Given the description of an element on the screen output the (x, y) to click on. 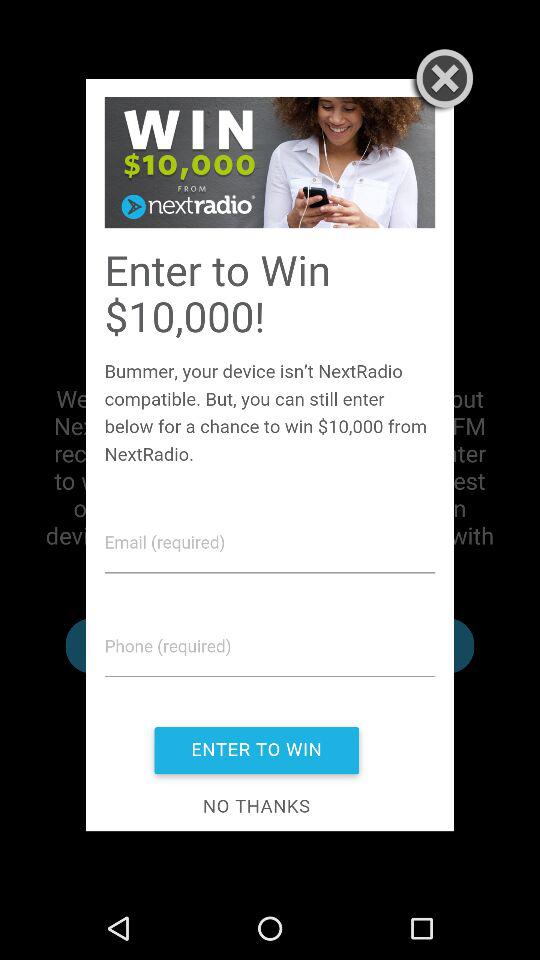
go to image (269, 454)
